Given the description of an element on the screen output the (x, y) to click on. 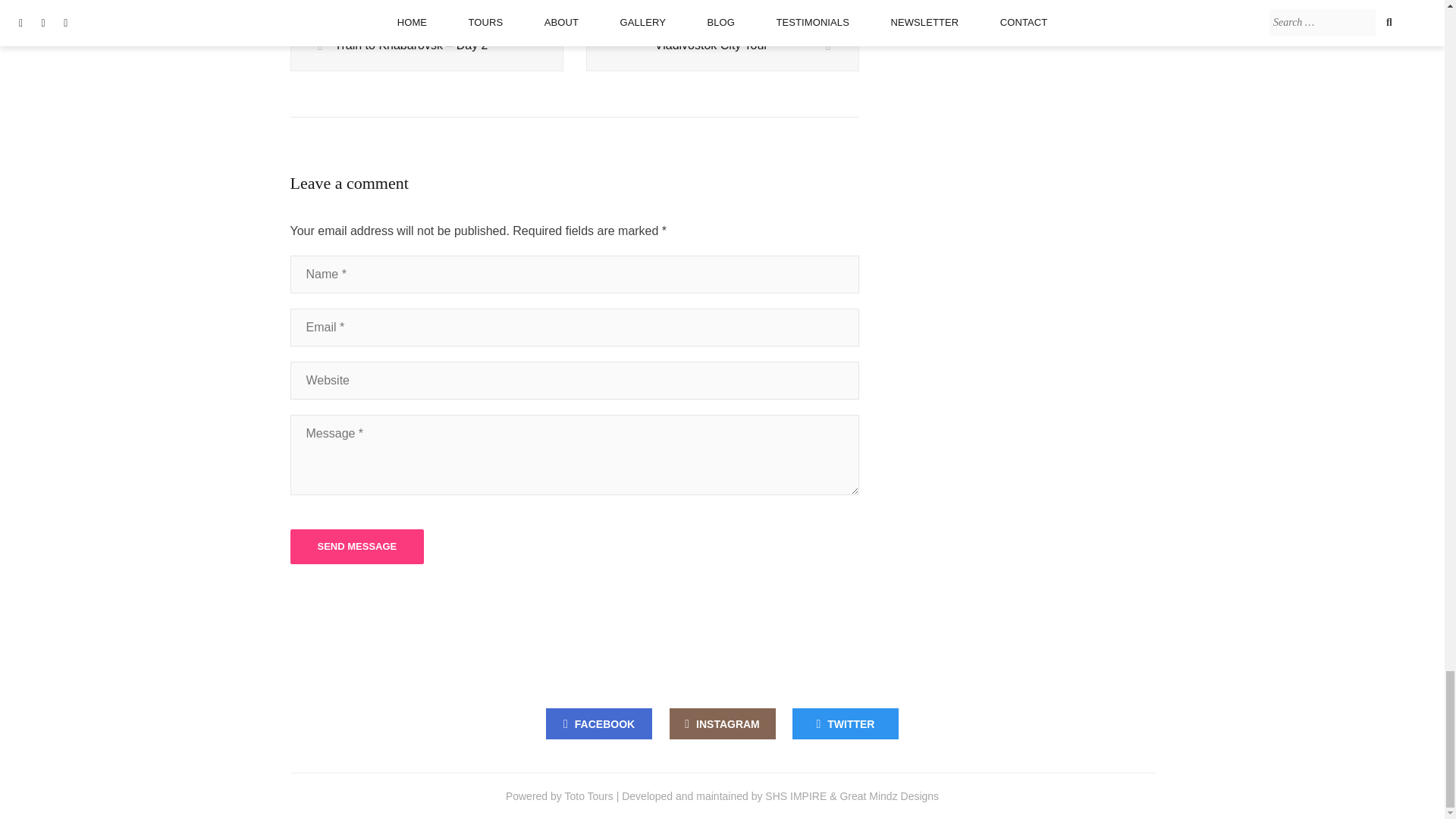
TWITTER (845, 723)
Send Message (356, 545)
Toto Tours (588, 796)
INSTAGRAM (721, 723)
Train to Khabarovsk - Day 2 (426, 45)
Vladivostok City Tour (722, 45)
FACEBOOK (599, 723)
Send Message (356, 545)
